Given the description of an element on the screen output the (x, y) to click on. 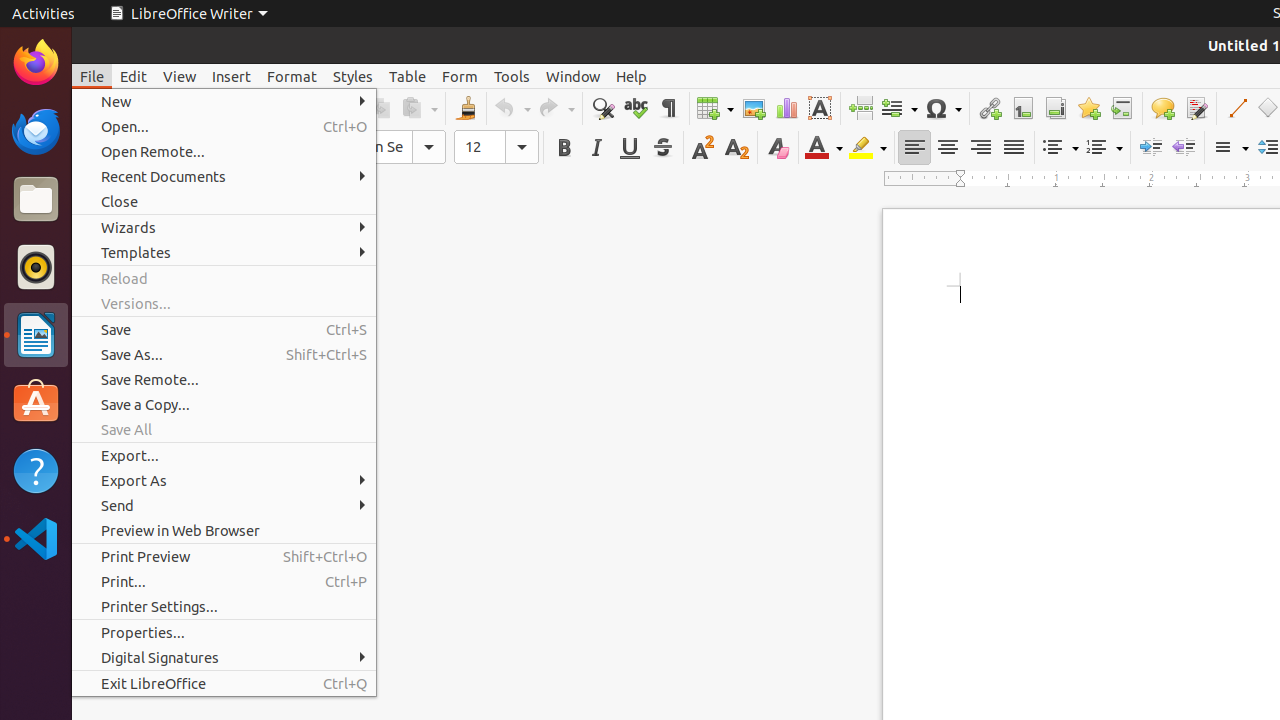
Subscript Element type: toggle-button (736, 147)
Justified Element type: toggle-button (1013, 147)
Window Element type: menu (573, 76)
Help Element type: menu (631, 76)
Format Element type: menu (292, 76)
